Given the description of an element on the screen output the (x, y) to click on. 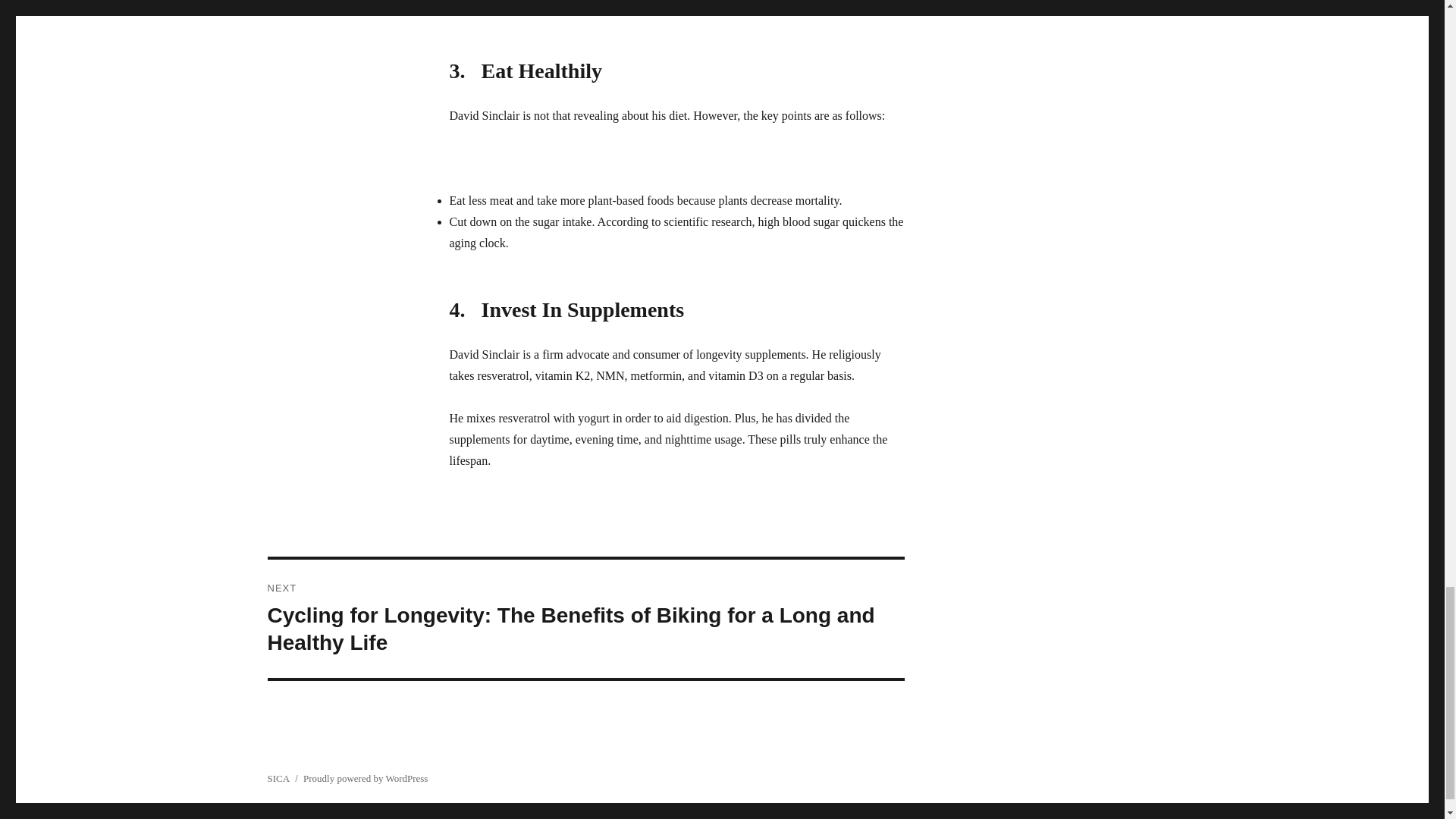
SICA (277, 778)
Proudly powered by WordPress (365, 778)
